Given the description of an element on the screen output the (x, y) to click on. 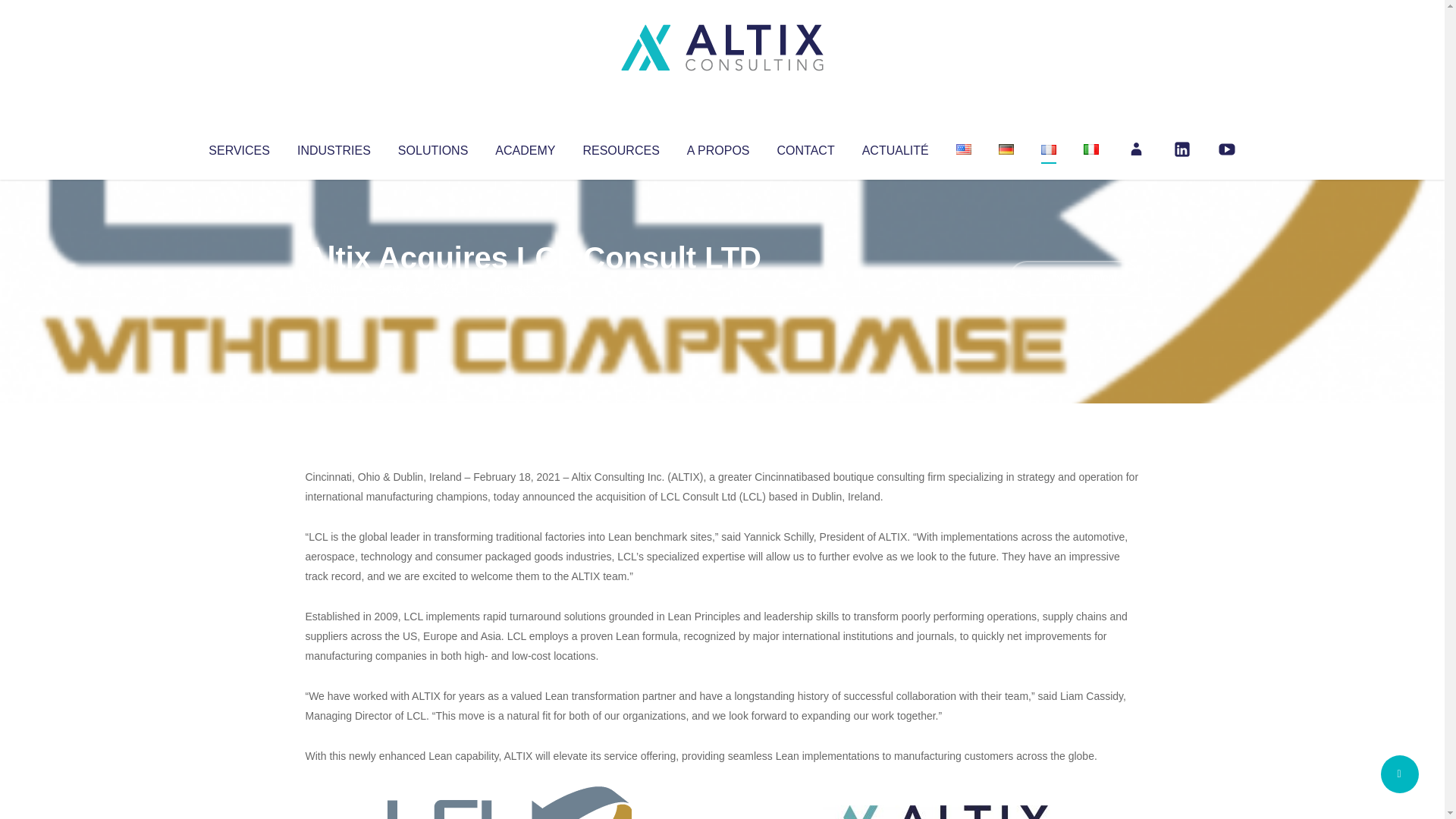
ACADEMY (524, 146)
A PROPOS (718, 146)
Articles par Altix (333, 287)
SOLUTIONS (432, 146)
INDUSTRIES (334, 146)
No Comments (1073, 278)
SERVICES (238, 146)
Altix (333, 287)
RESOURCES (620, 146)
Uncategorized (530, 287)
